Given the description of an element on the screen output the (x, y) to click on. 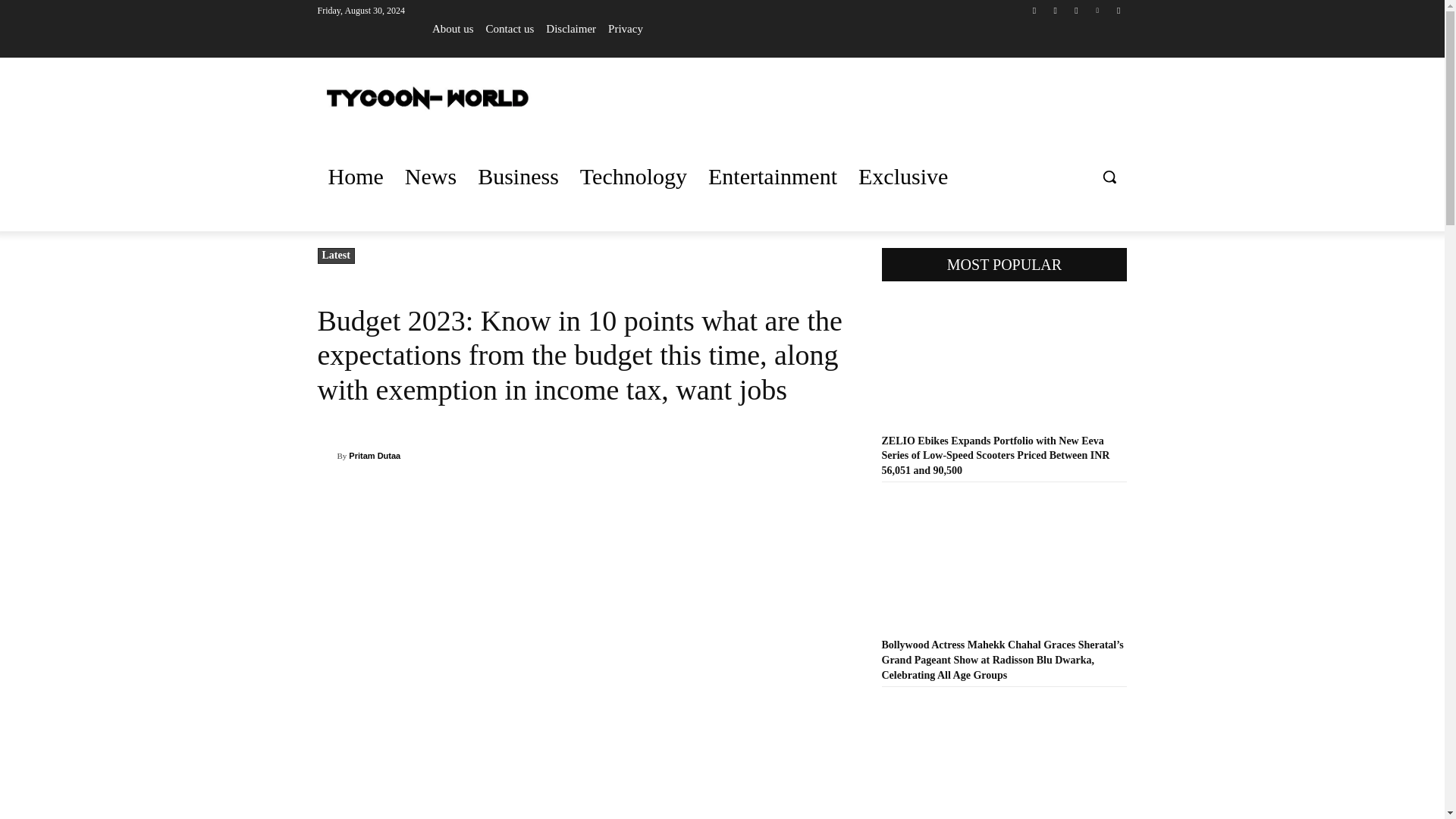
Twitter (1075, 9)
News (430, 176)
Technology (633, 176)
Disclaimer (570, 28)
Contact us (510, 28)
Youtube (1117, 9)
About us (453, 28)
Instagram (1055, 9)
Vimeo (1097, 9)
Home (355, 176)
